Given the description of an element on the screen output the (x, y) to click on. 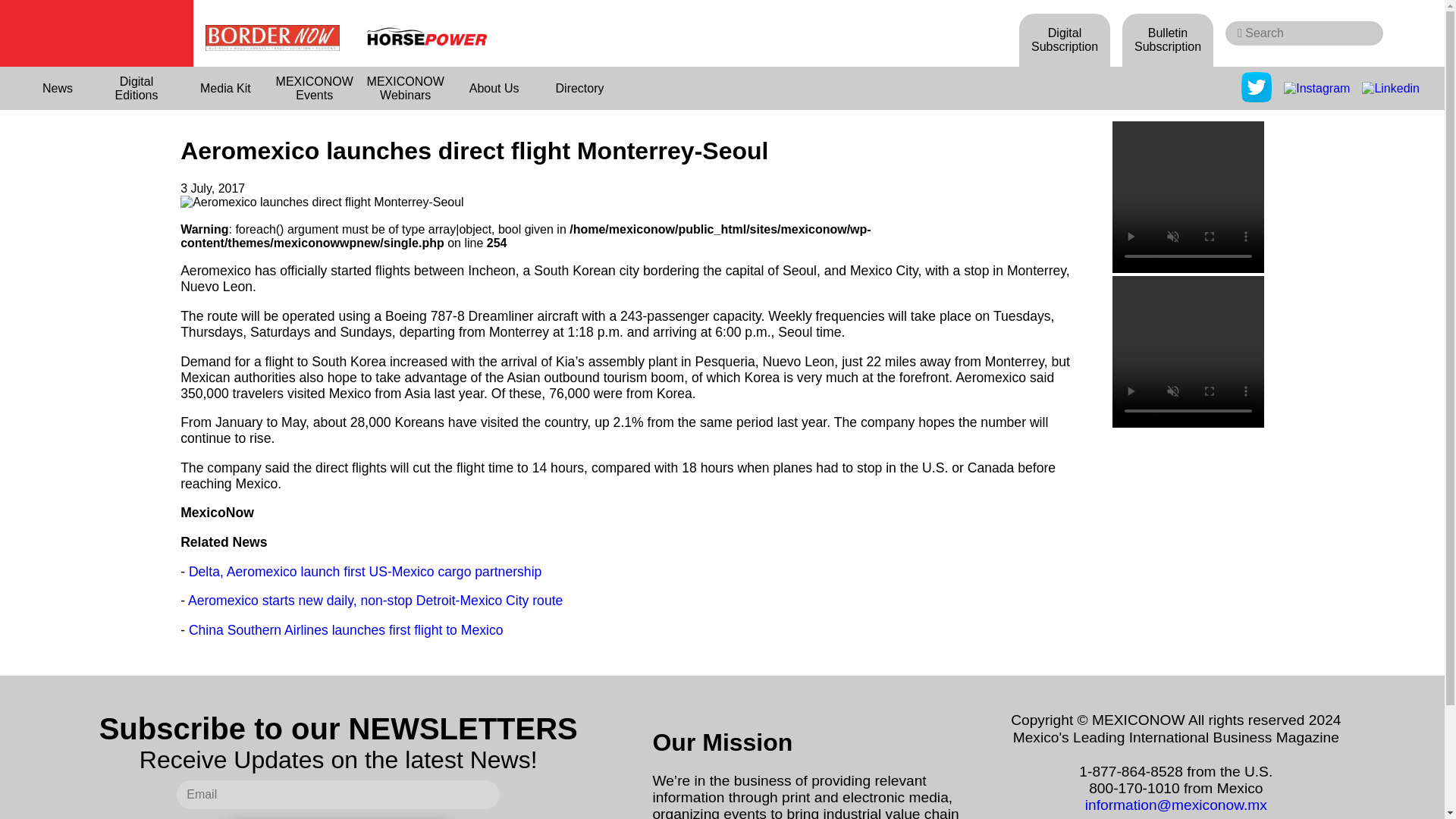
MEXICONOW Events (314, 87)
Digital Subscription (1064, 39)
Bulletin Subscription (1167, 39)
Media Kit (225, 87)
About Us (494, 87)
Digital Editions (136, 87)
MEXICONOW Webinars (405, 87)
Directory (580, 87)
News (57, 87)
Delta, Aeromexico launch first US-Mexico cargo partnership (365, 571)
